Given the description of an element on the screen output the (x, y) to click on. 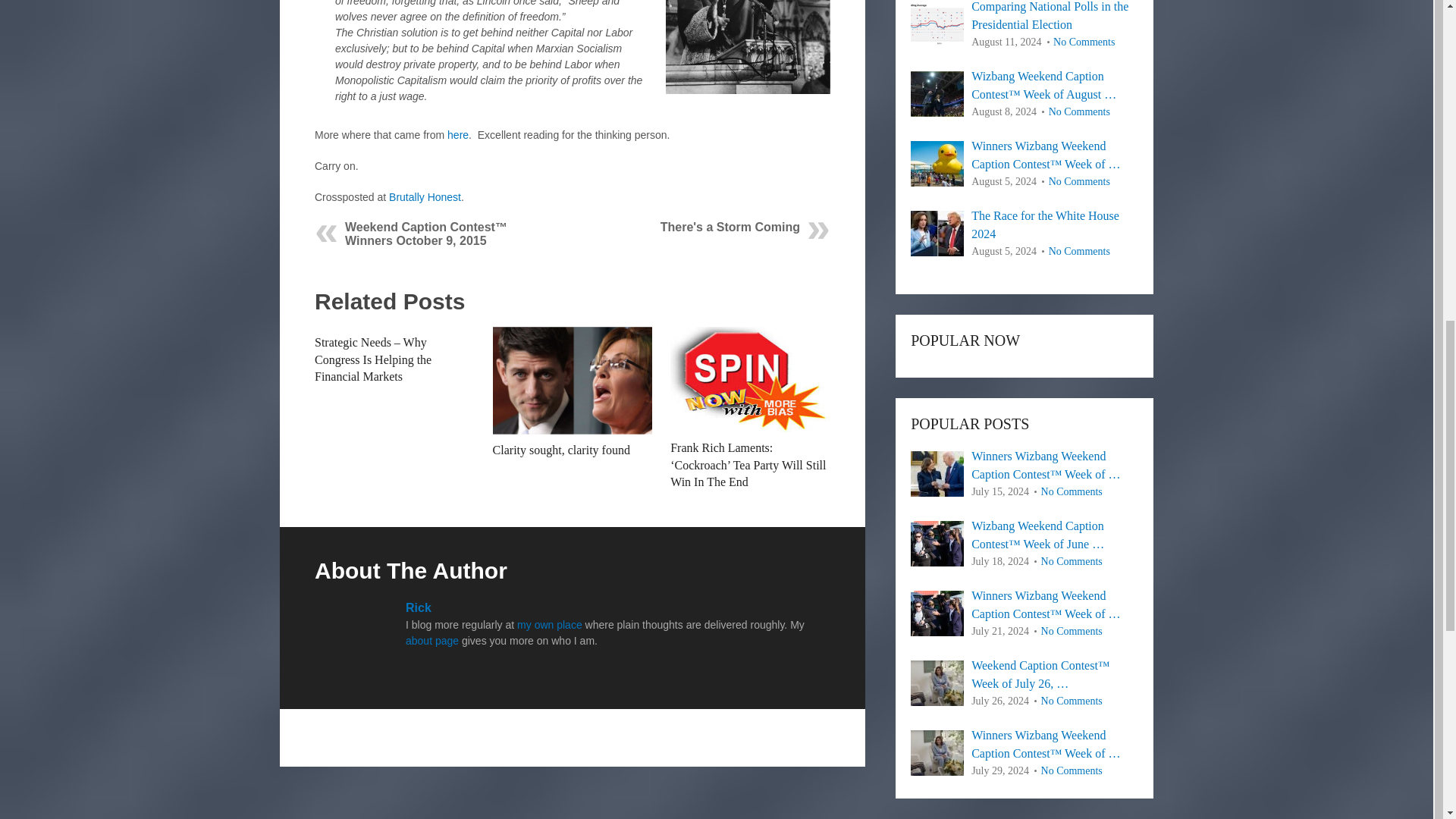
Clarity sought, clarity found (561, 449)
Rick (418, 607)
Clarity sought, clarity found (561, 449)
Brutally Honest (424, 196)
Clarity sought, clarity found (572, 380)
here (457, 134)
There's a Storm Coming (730, 226)
